Given the description of an element on the screen output the (x, y) to click on. 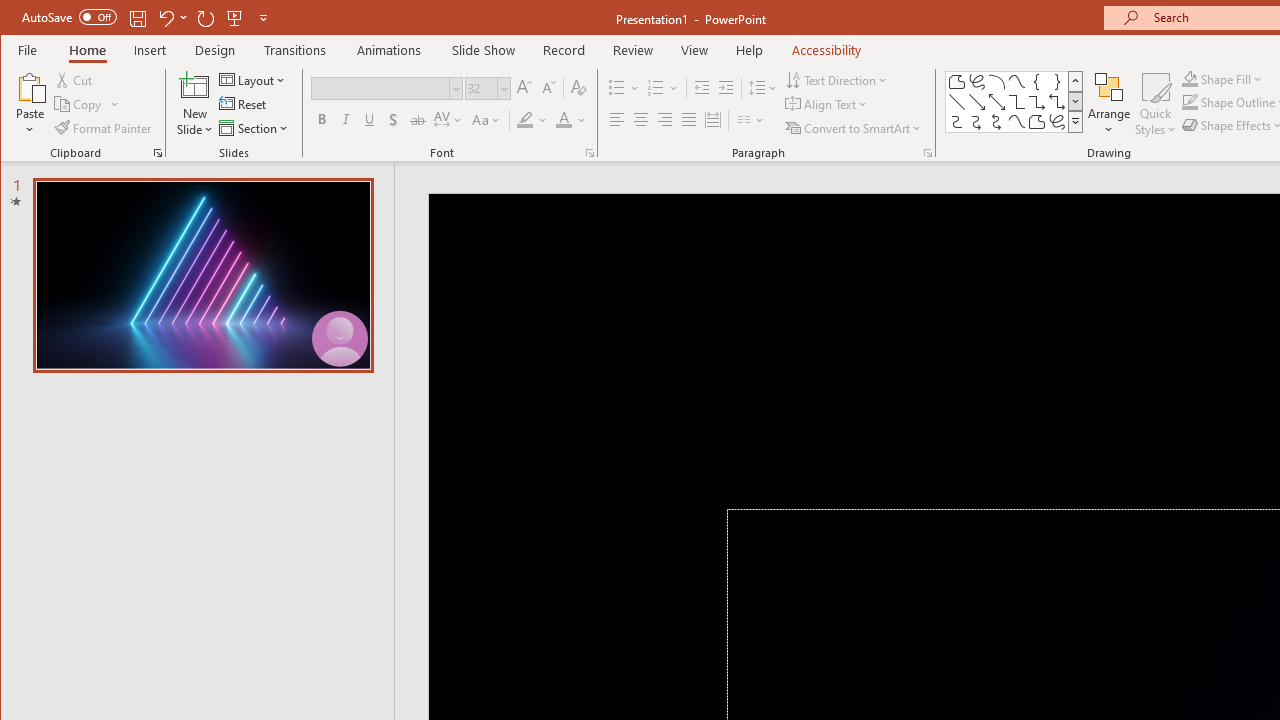
Connector: Curved (956, 121)
